Given the description of an element on the screen output the (x, y) to click on. 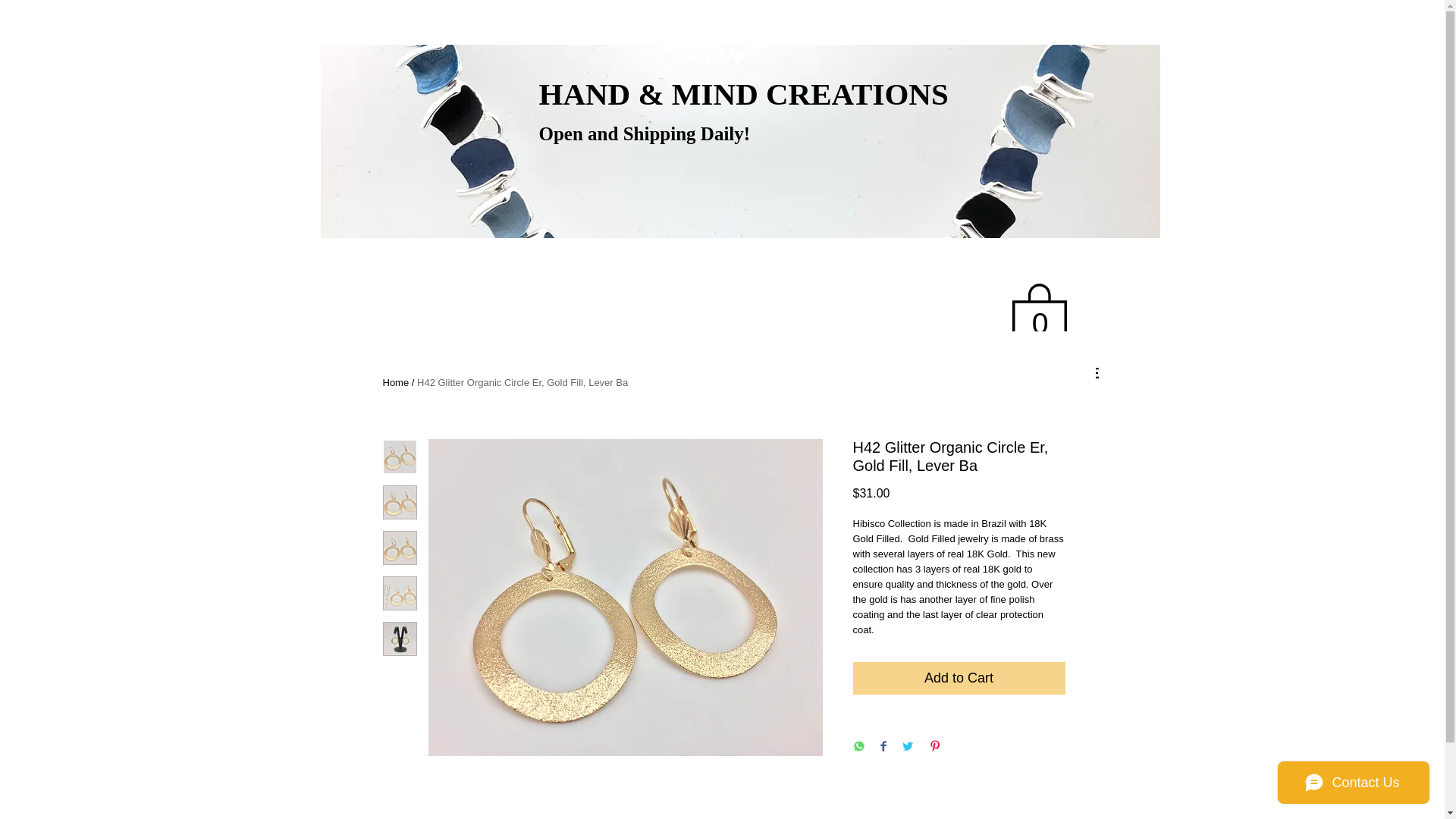
ABOUT (833, 372)
Add to Cart (957, 677)
SHOW SCHEDULE (1032, 372)
H42 Glitter Organic Circle Er, Gold Fill, Lever Ba (521, 382)
START SHOPPING (435, 372)
HOW TO ORDER (634, 372)
Home (395, 382)
